Given the description of an element on the screen output the (x, y) to click on. 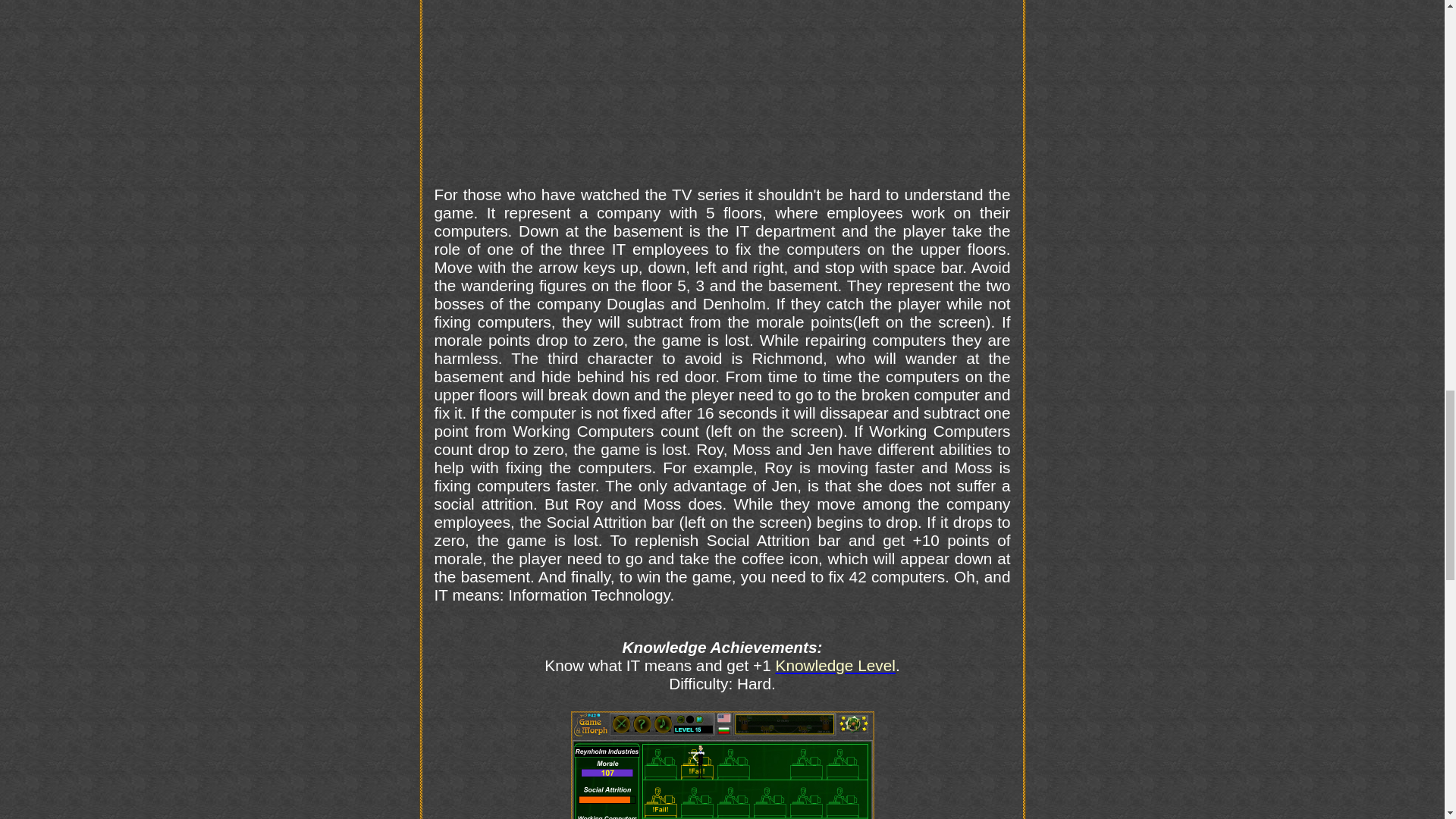
Knowledge Level (835, 665)
